Given the description of an element on the screen output the (x, y) to click on. 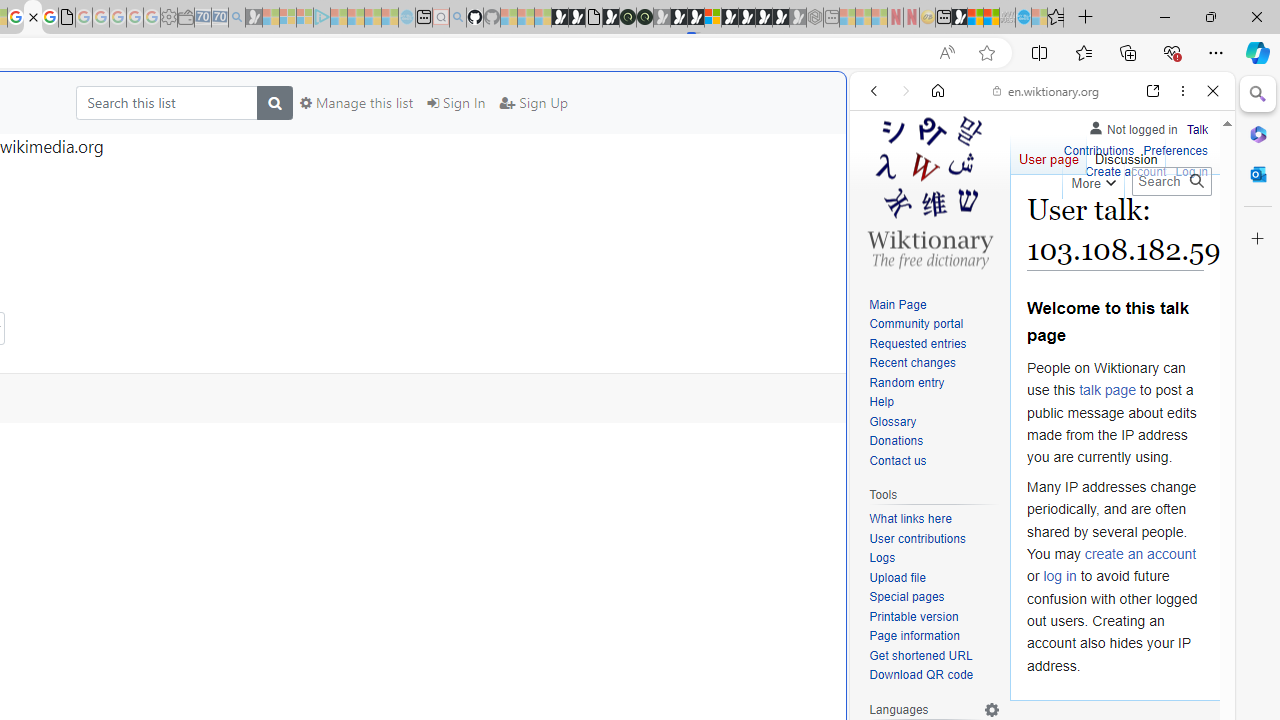
Visit the main page (929, 190)
Upload file (897, 577)
Donations (896, 441)
Get shortened URL (934, 655)
Go (1196, 181)
